Given the description of an element on the screen output the (x, y) to click on. 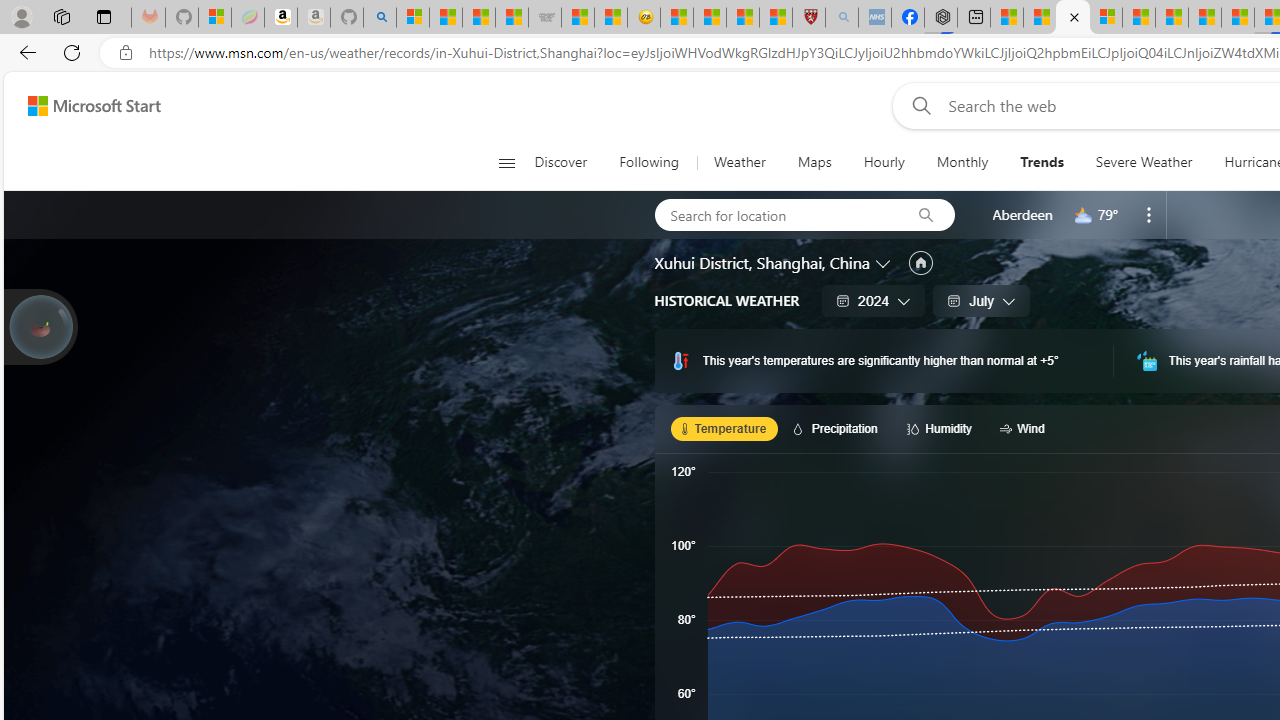
14 Common Myths Debunked By Scientific Facts (1205, 17)
Precipitation (838, 428)
